Given the description of an element on the screen output the (x, y) to click on. 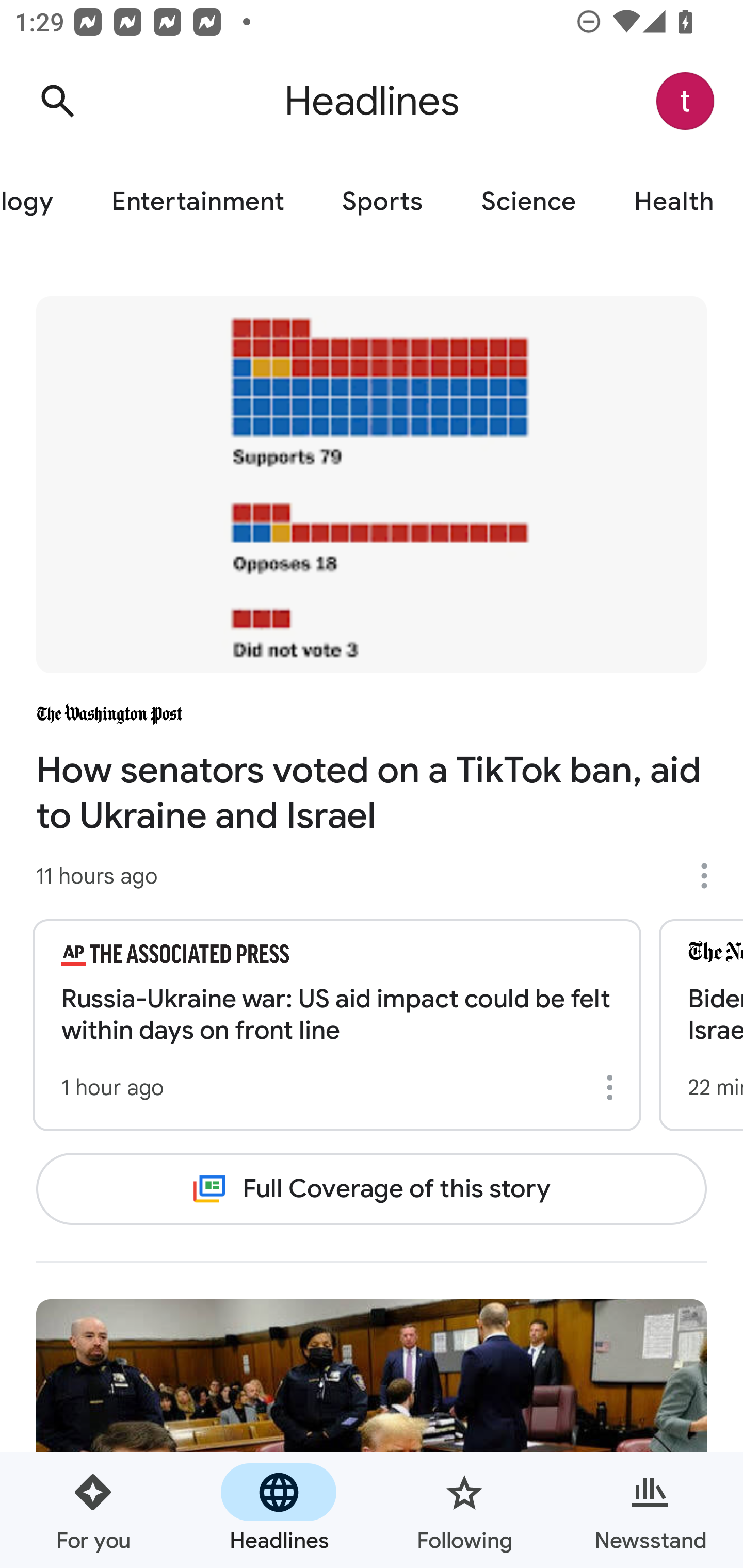
Search (57, 100)
Technology (40, 202)
Entertainment (197, 202)
Sports (382, 202)
Science (527, 202)
Health (673, 202)
More options (711, 875)
More options (613, 1086)
Full Coverage of this story (371, 1188)
For you (92, 1509)
Headlines (278, 1509)
Following (464, 1509)
Newsstand (650, 1509)
